Given the description of an element on the screen output the (x, y) to click on. 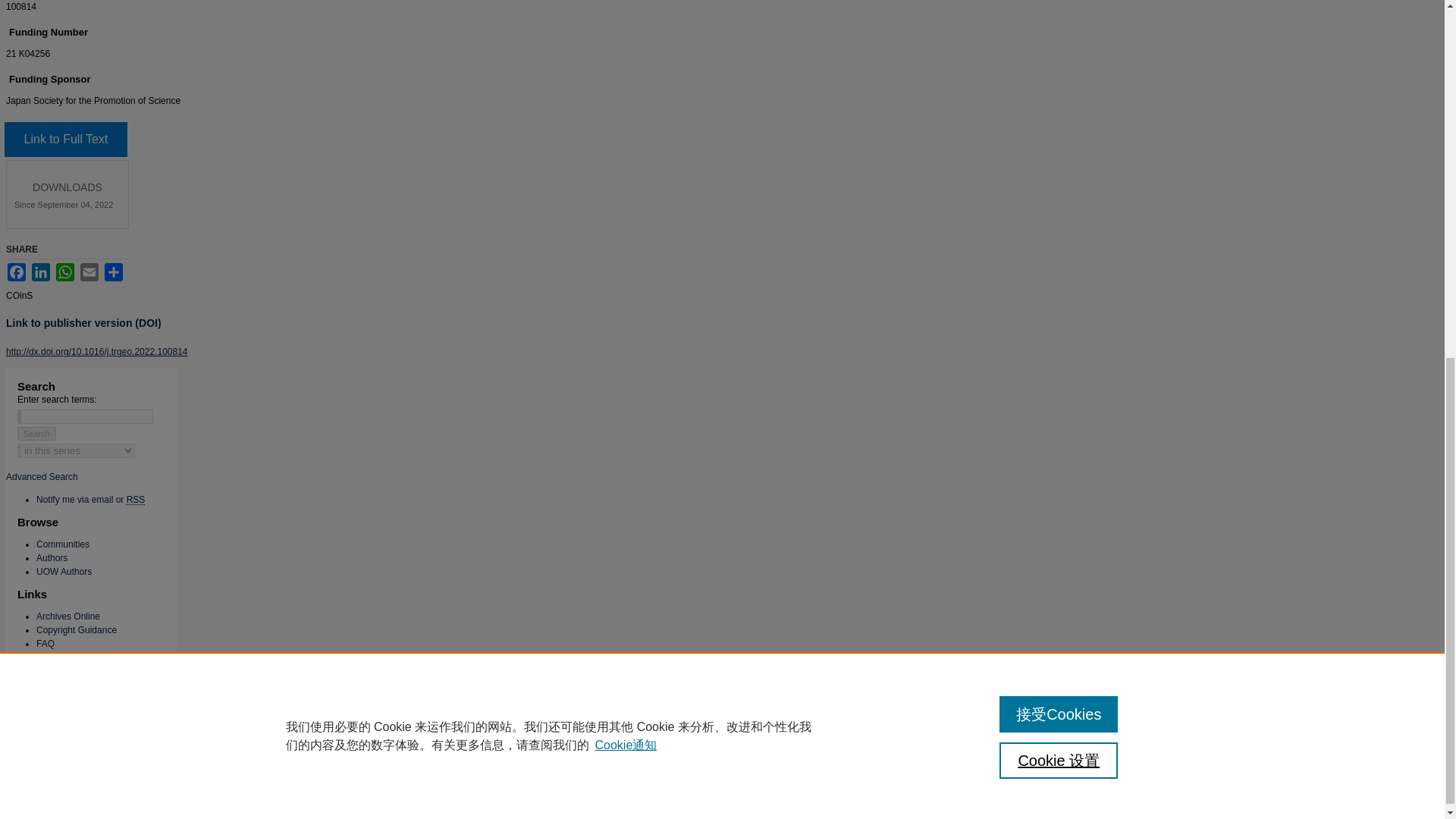
LinkedIn (40, 271)
Search (36, 433)
WhatsApp (65, 271)
Email or RSS Notifications (90, 499)
Link to Full Text (66, 139)
Browse by Communities (62, 543)
Browse UOW Authors (63, 571)
Email (89, 271)
Copyright Guidance (76, 629)
Archives Online (68, 615)
UOW Authors (63, 571)
Notify me via email or RSS (90, 499)
Really Simple Syndication (135, 499)
Communities (62, 543)
Link opens in new window (66, 139)
